Given the description of an element on the screen output the (x, y) to click on. 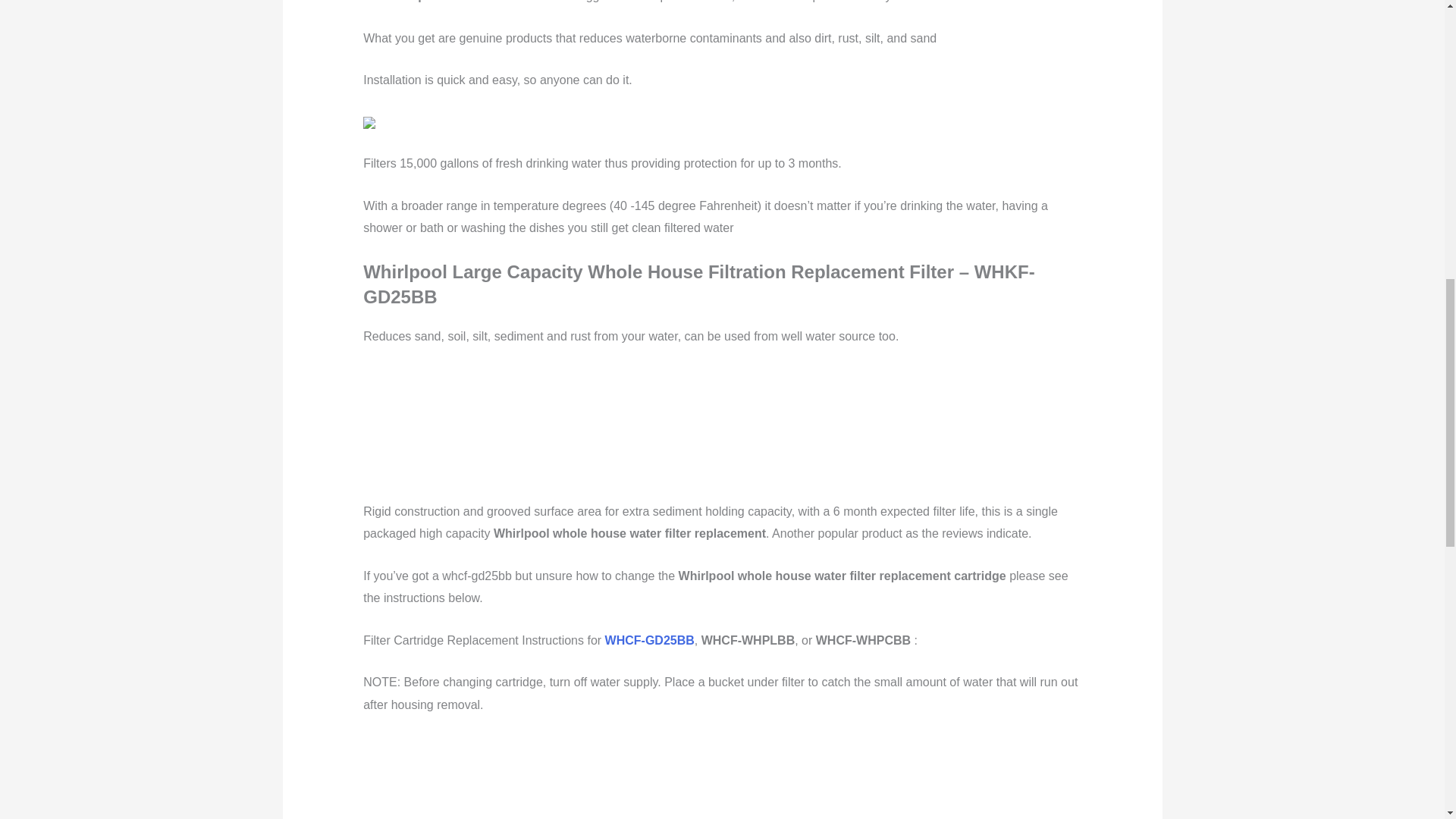
WHCF-GD25BB (649, 640)
